Given the description of an element on the screen output the (x, y) to click on. 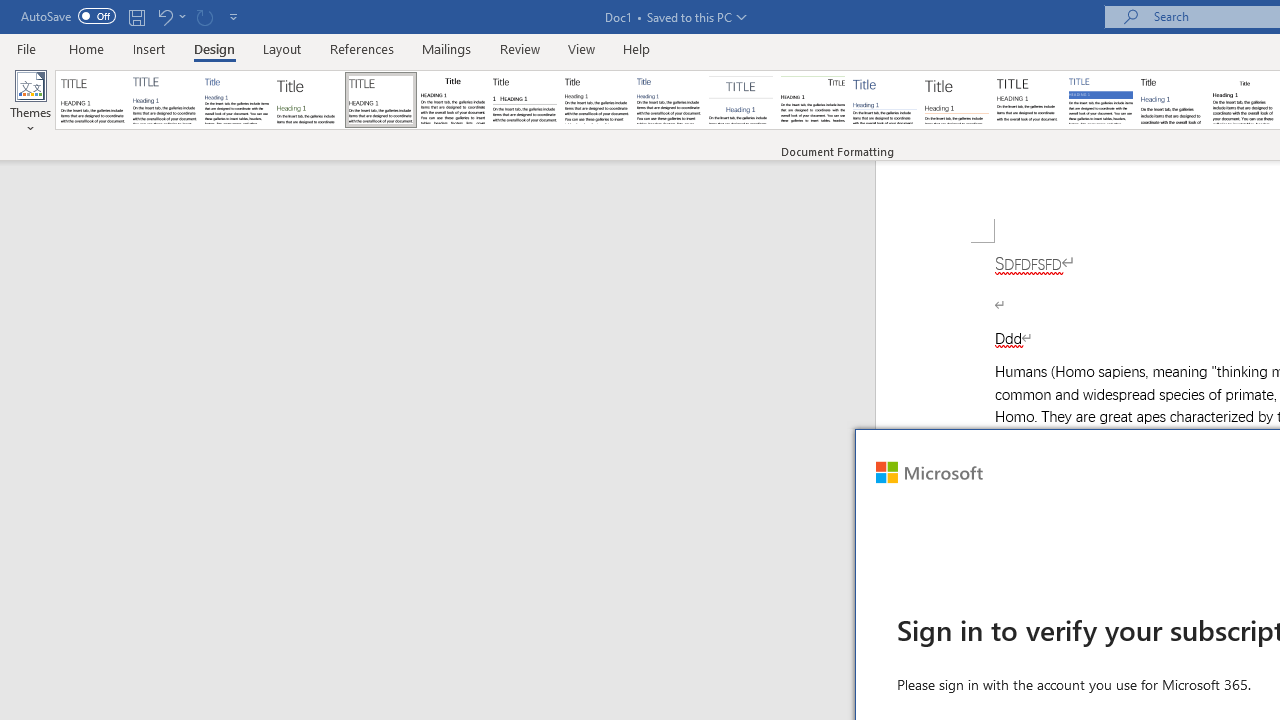
Word (1172, 100)
Black & White (Capitalized) (381, 100)
Casual (669, 100)
Lines (Distinctive) (812, 100)
Black & White (Word 2013) (596, 100)
